Given the description of an element on the screen output the (x, y) to click on. 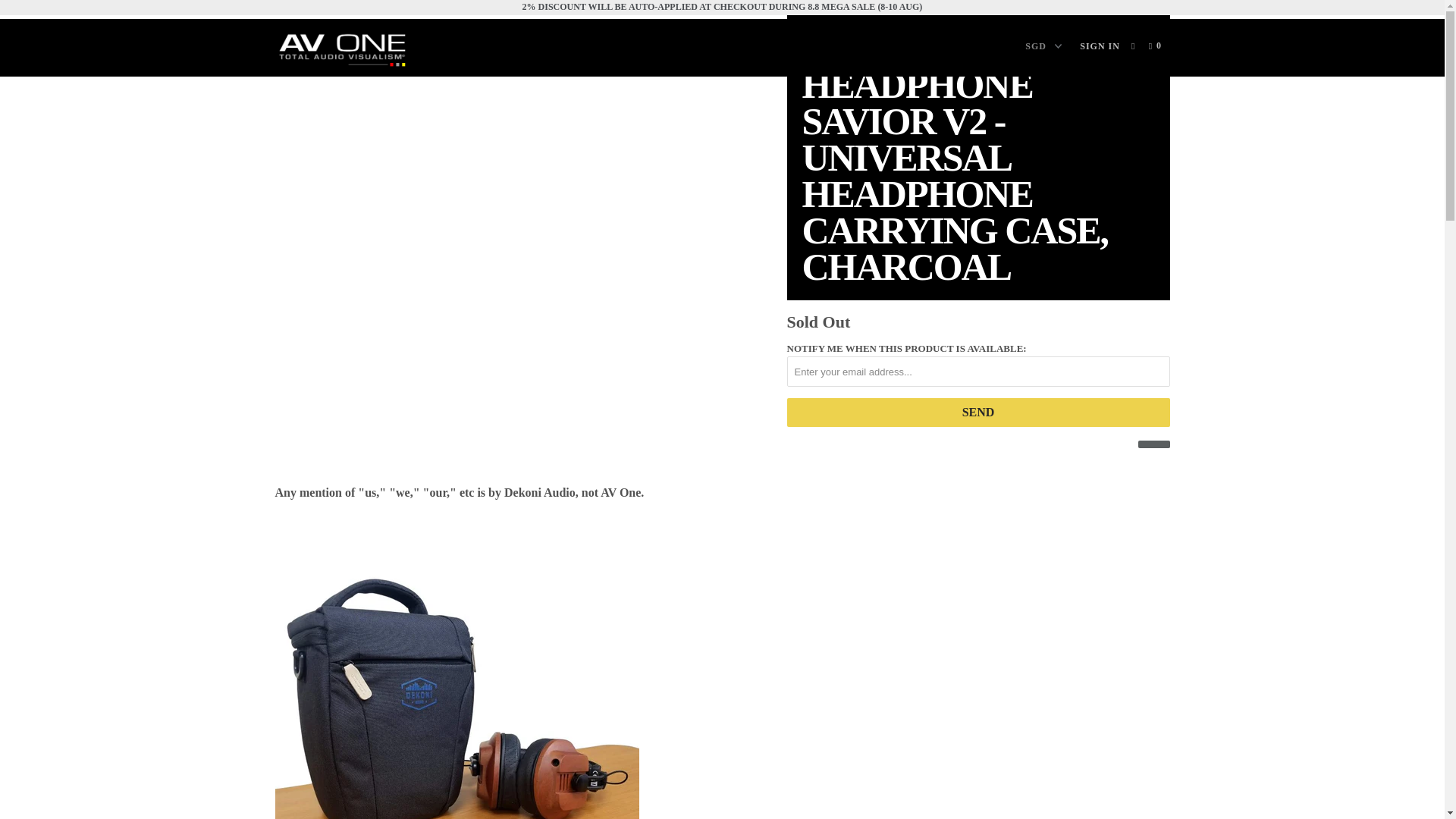
AV One (352, 47)
Send (978, 412)
Search (1134, 46)
My Account  (1099, 46)
